Given the description of an element on the screen output the (x, y) to click on. 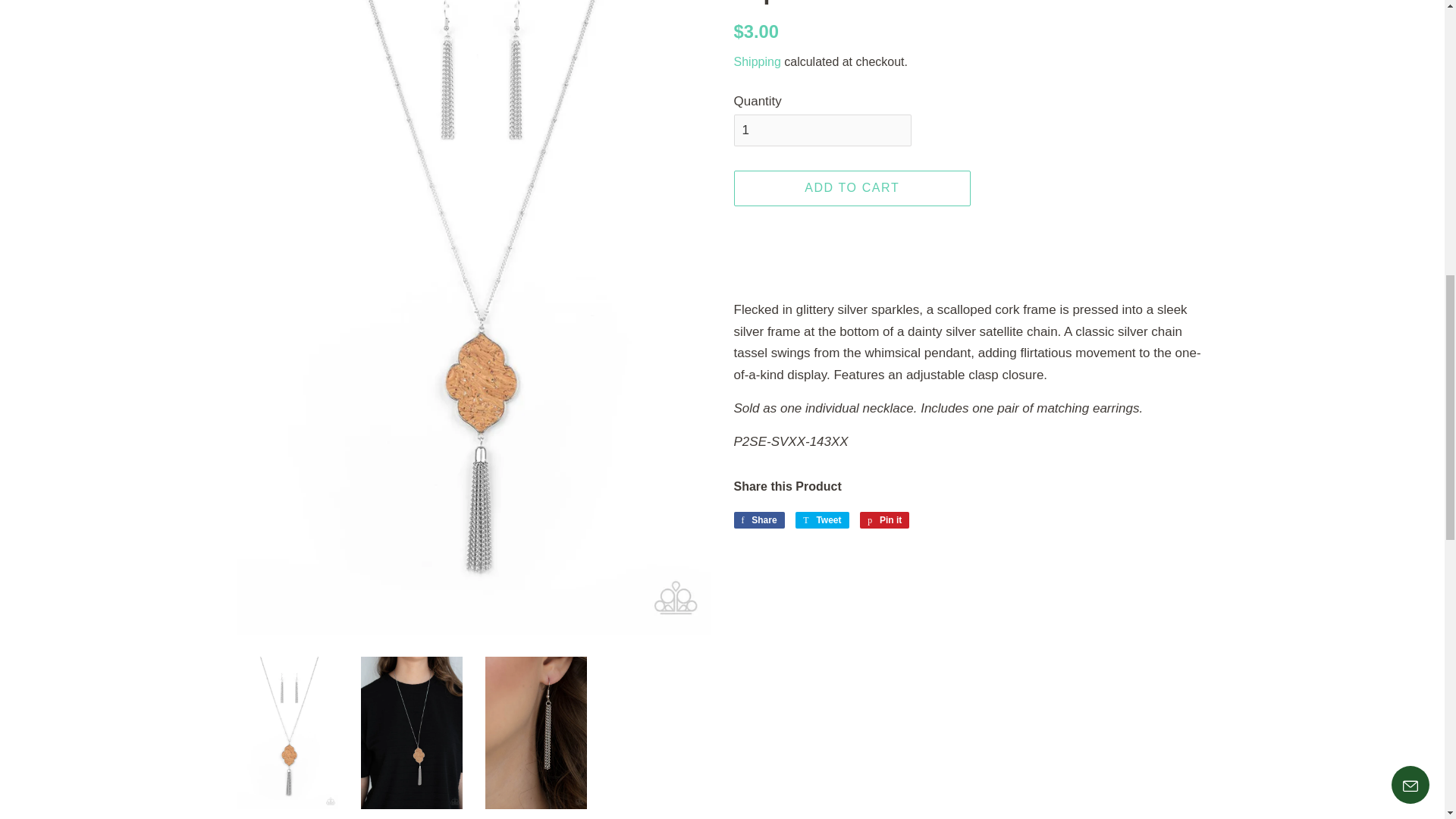
Share on Facebook (758, 519)
Pin on Pinterest (884, 519)
Tweet on Twitter (821, 519)
1 (822, 130)
